Given the description of an element on the screen output the (x, y) to click on. 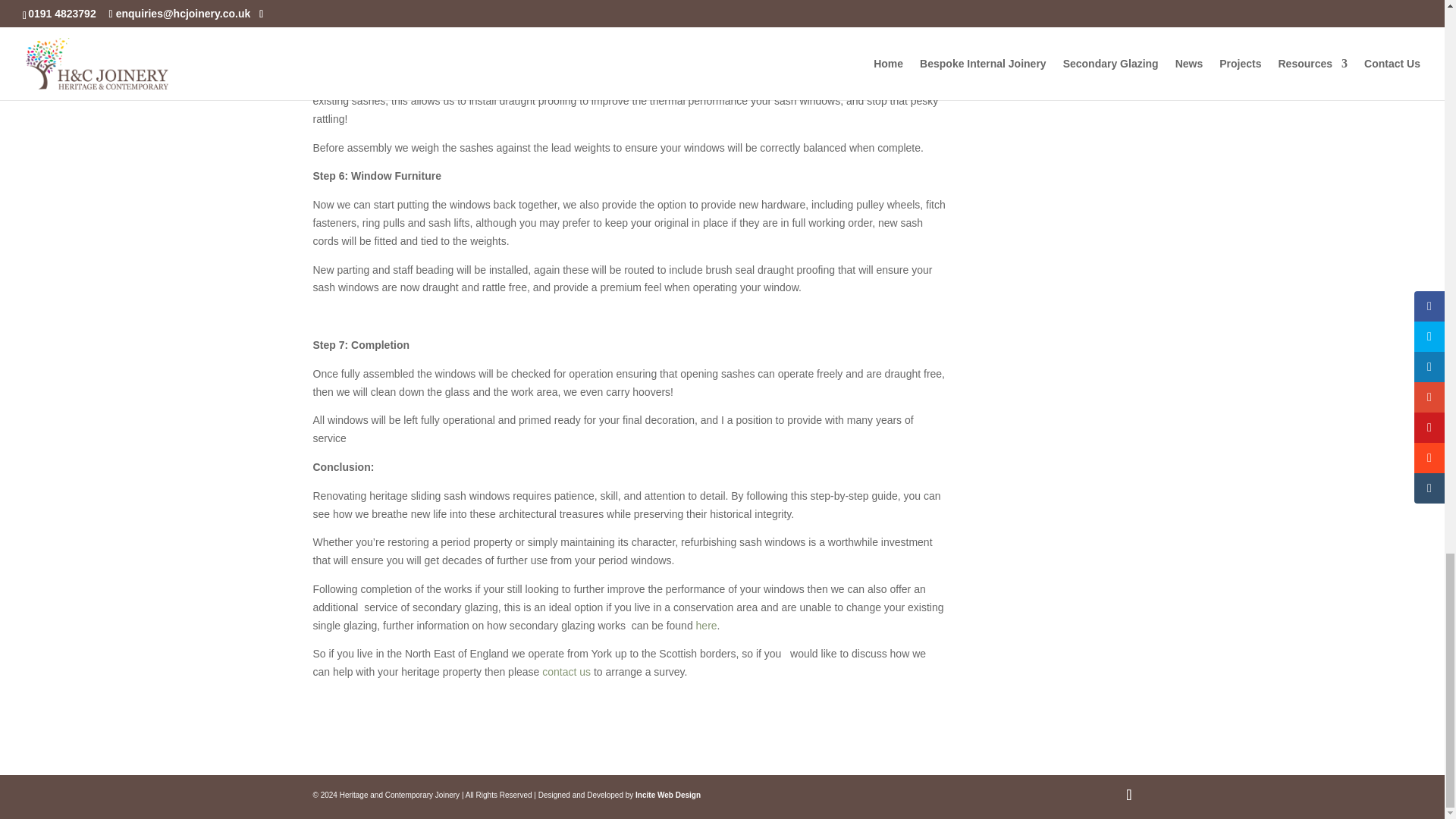
contact us (566, 671)
here (706, 624)
